Given the description of an element on the screen output the (x, y) to click on. 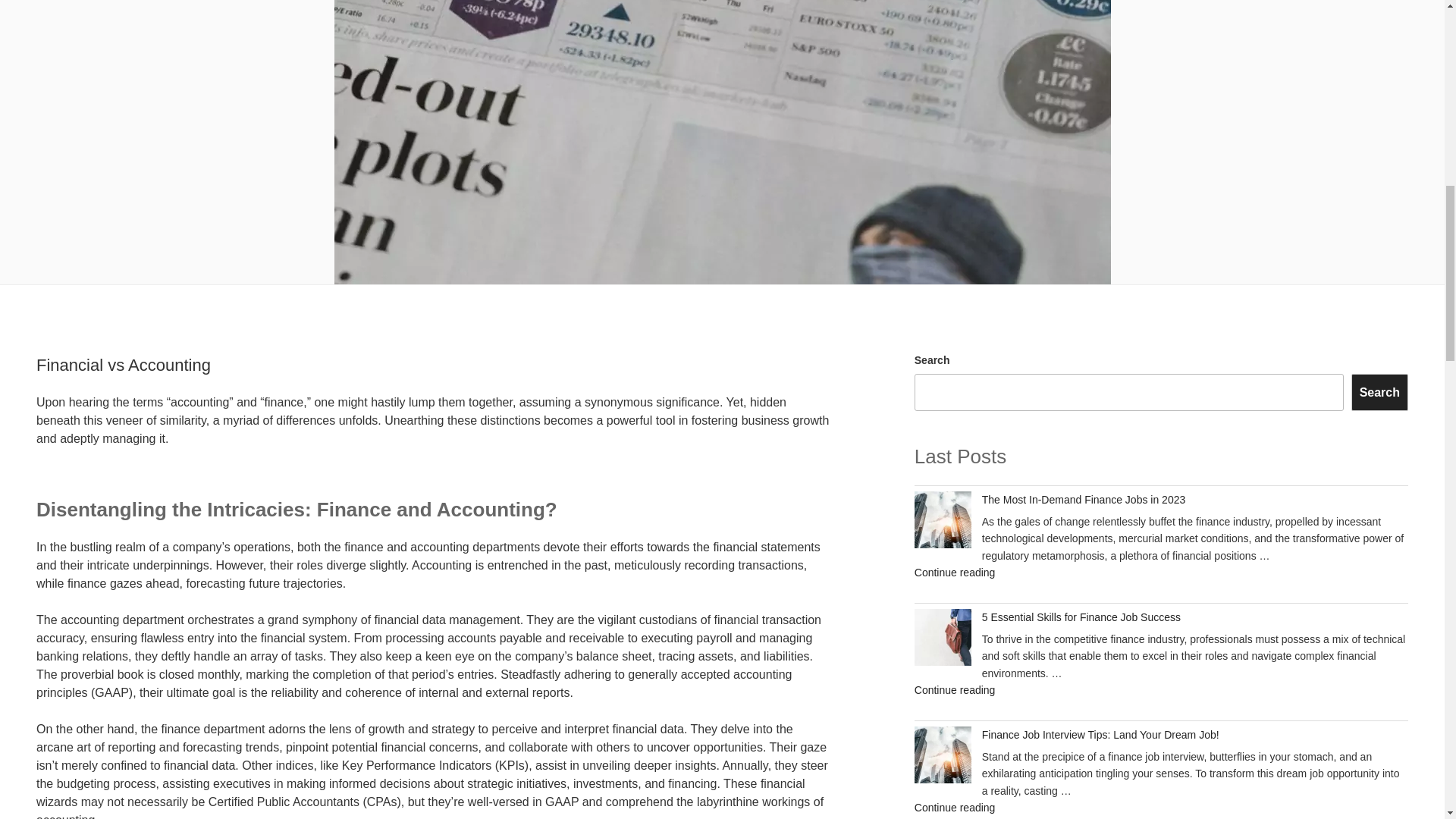
Finance Job Interview Tips: Land Your Dream Job! (954, 572)
Search (1100, 734)
The Most In-Demand Finance Jobs in 2023 (1379, 391)
5 Essential Skills for Finance Job Success (1083, 499)
